Given the description of an element on the screen output the (x, y) to click on. 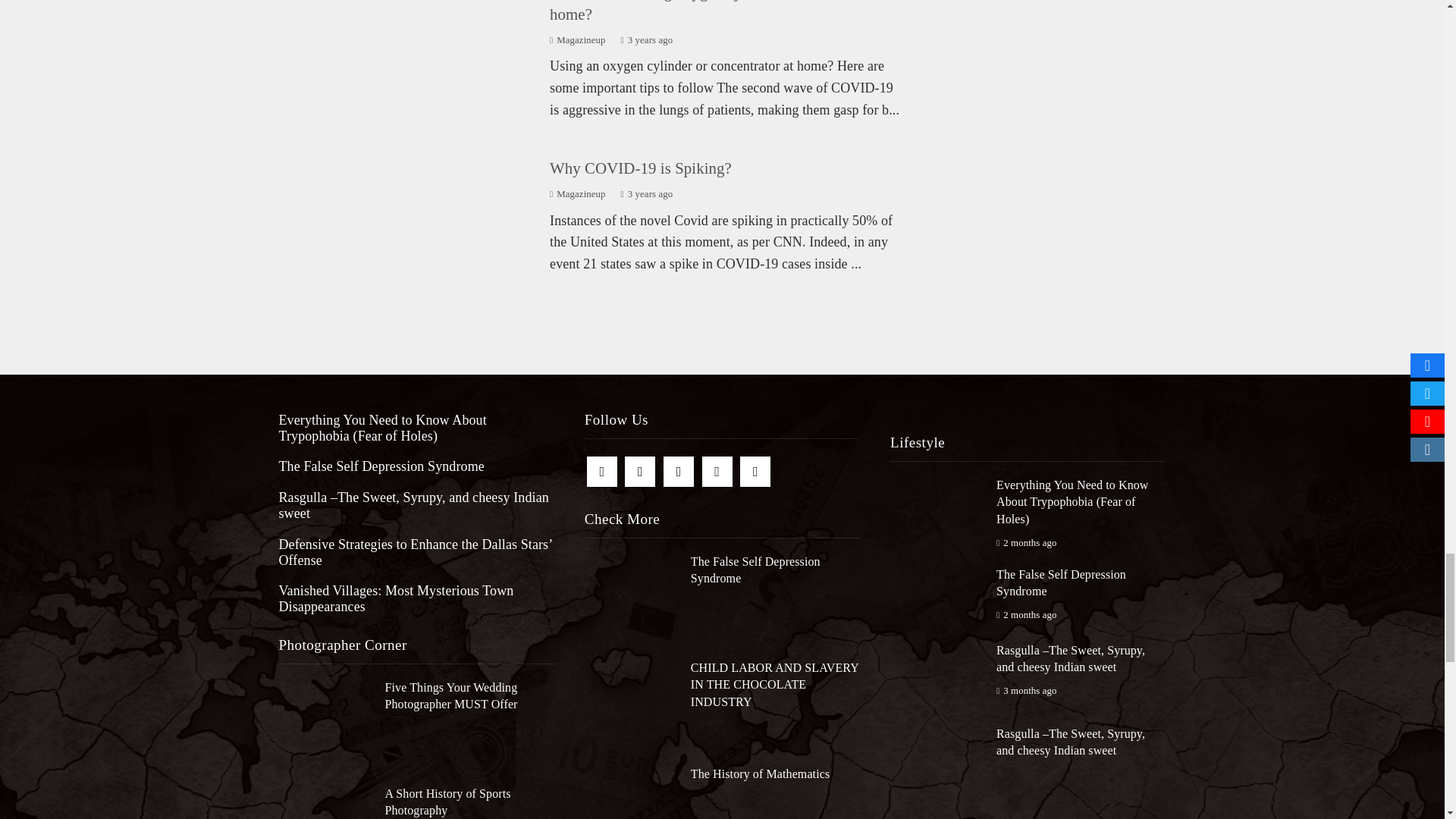
Youtube (716, 471)
Facebook (601, 471)
Pinterest (678, 471)
Twitter (639, 471)
Why COVID-19 is Spiking? (641, 167)
COVID-19 : Using oxygen cylinder or concentrator at home? (722, 11)
